Given the description of an element on the screen output the (x, y) to click on. 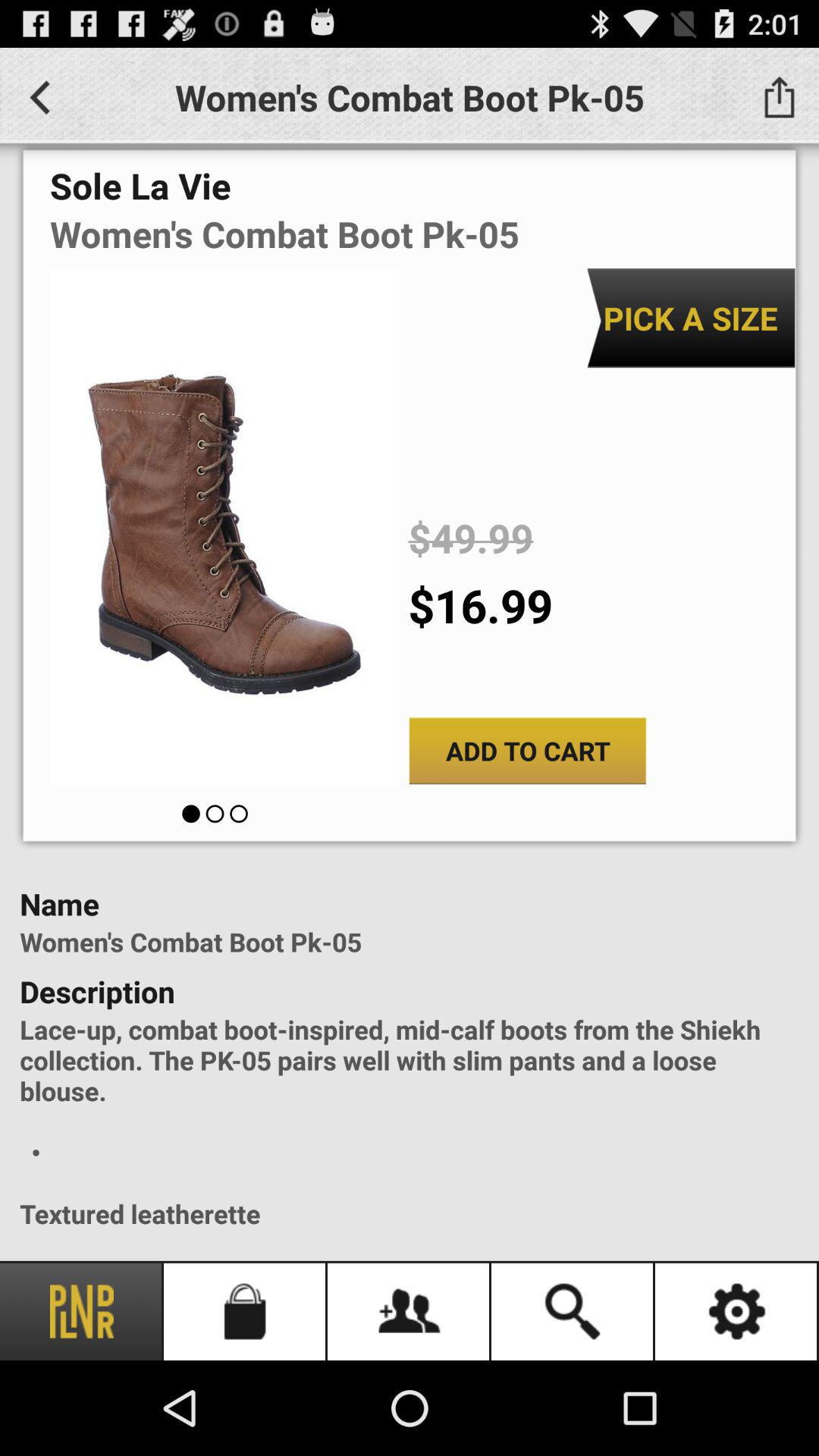
jump to the pick a size icon (690, 317)
